Given the description of an element on the screen output the (x, y) to click on. 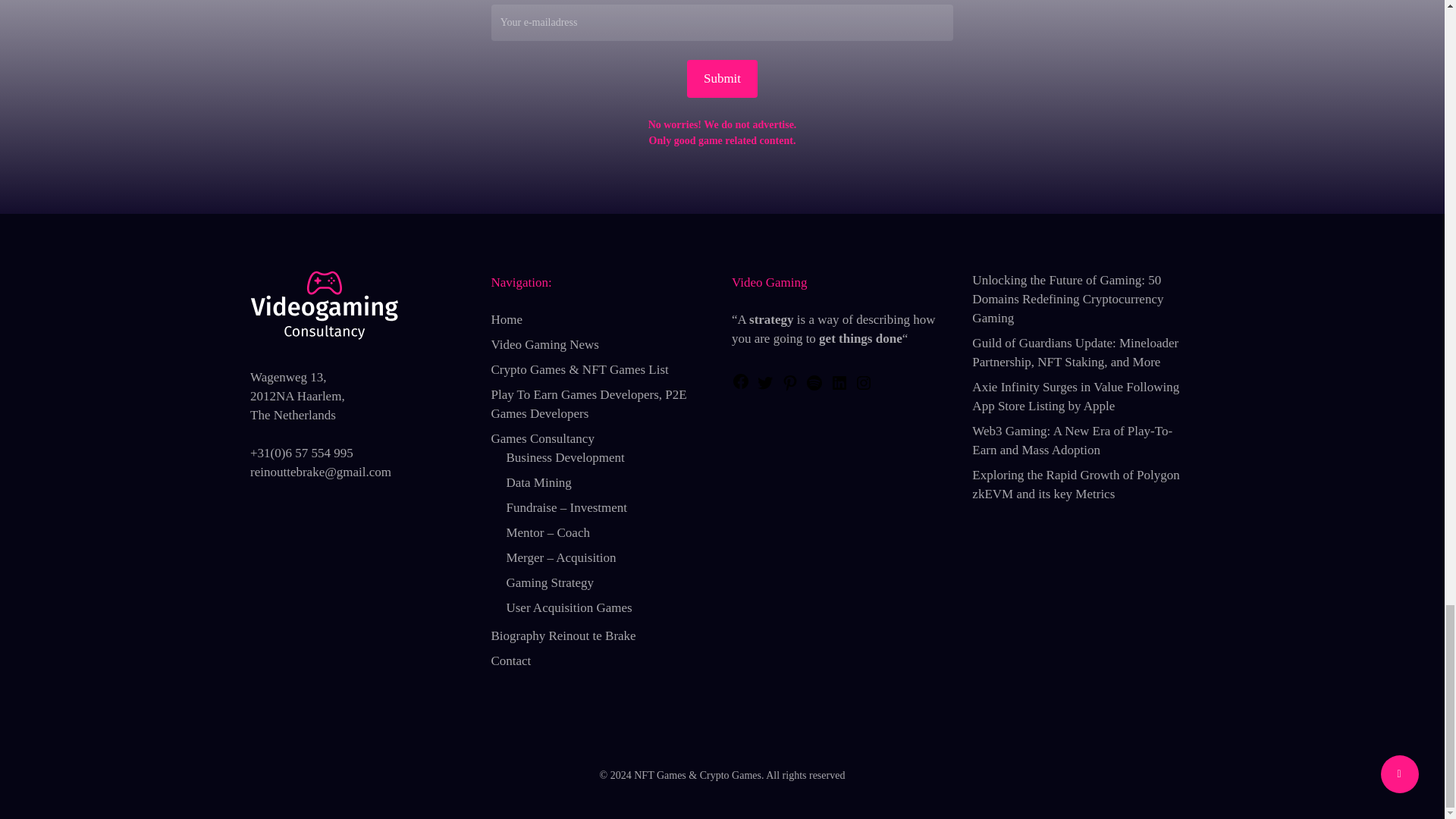
Submit (722, 78)
